Given the description of an element on the screen output the (x, y) to click on. 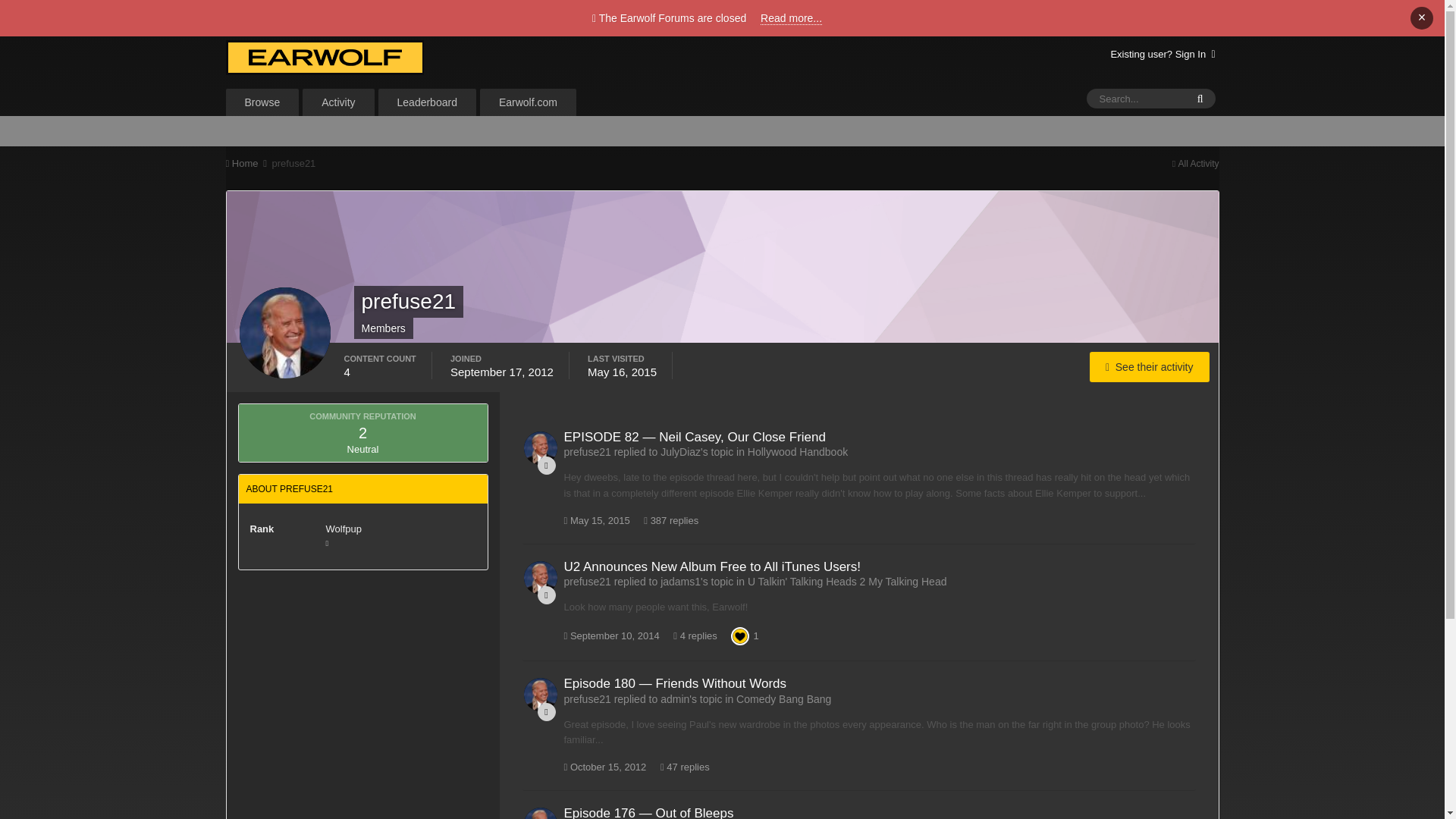
May 15, 2015 (597, 520)
Like (739, 635)
All Activity (1196, 163)
Post (545, 595)
Existing user? Sign In   (1161, 53)
Read more... (791, 18)
Earwolf.com (528, 102)
Post (545, 465)
Home (247, 163)
Leaderboard (427, 102)
